Given the description of an element on the screen output the (x, y) to click on. 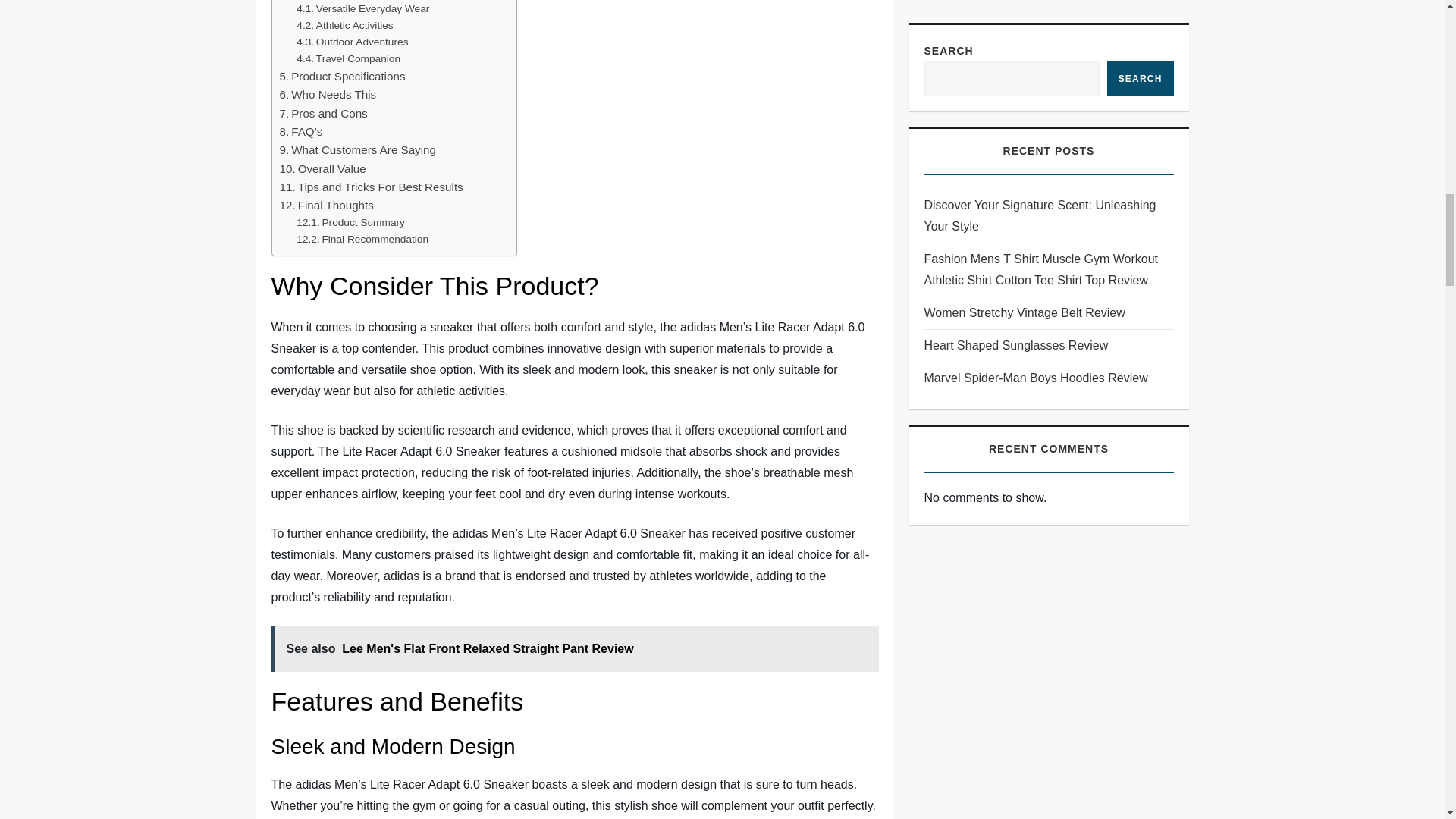
What Customers Are Saying (357, 149)
See also  Lee Men's Flat Front Relaxed Straight Pant Review (574, 648)
Pros and Cons (322, 113)
Outdoor Adventures (352, 42)
Product Specifications (341, 76)
Tips and Tricks For Best Results (371, 187)
Travel Companion (348, 58)
Travel Companion (348, 58)
Pros and Cons (322, 113)
Versatile Everyday Wear (363, 8)
